Given the description of an element on the screen output the (x, y) to click on. 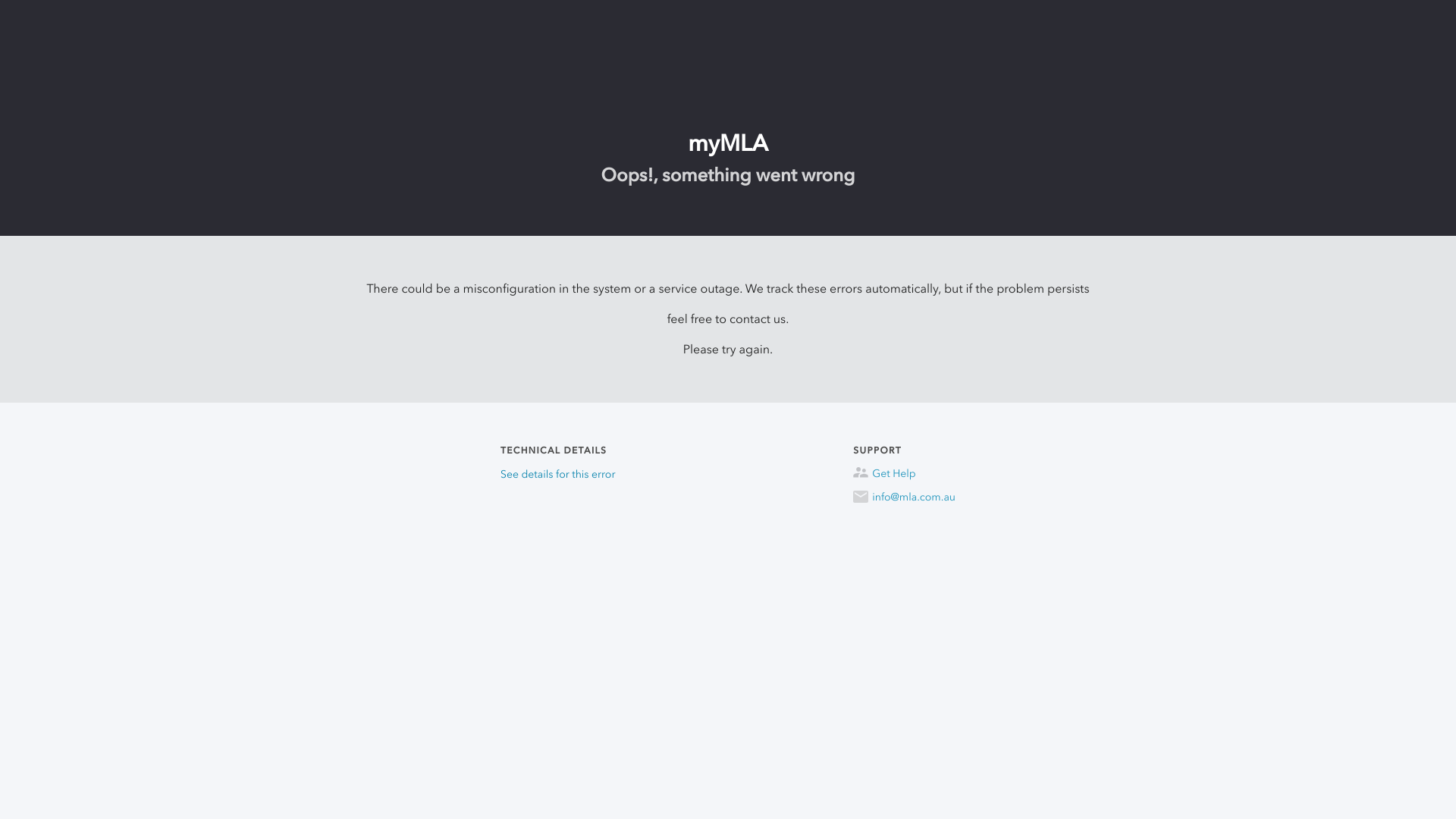
info@mla.com.au Element type: text (904, 497)
See details for this error Element type: text (557, 473)
Get Help Element type: text (904, 473)
